Given the description of an element on the screen output the (x, y) to click on. 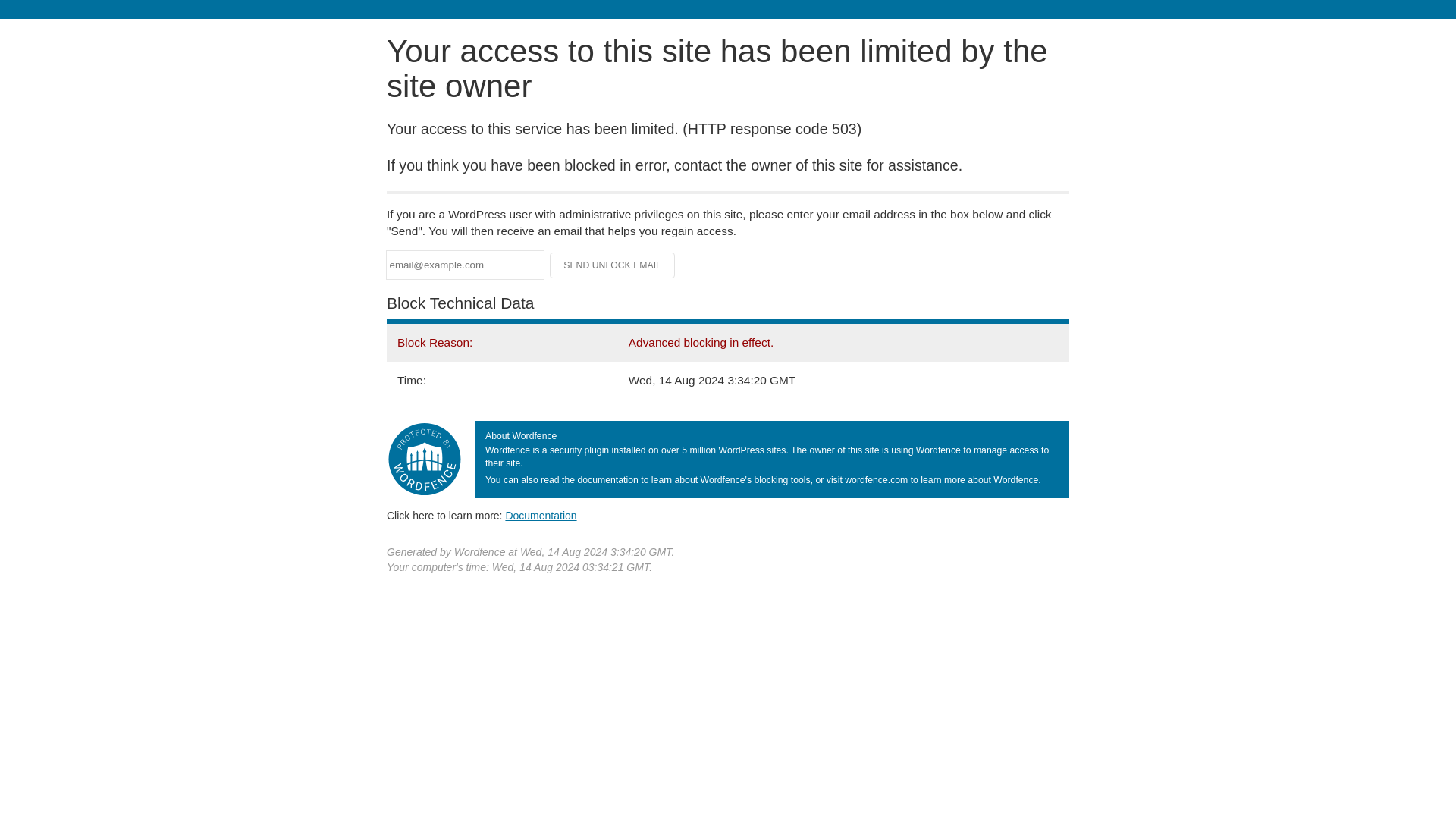
Documentation (540, 515)
Send Unlock Email (612, 265)
Send Unlock Email (612, 265)
